Given the description of an element on the screen output the (x, y) to click on. 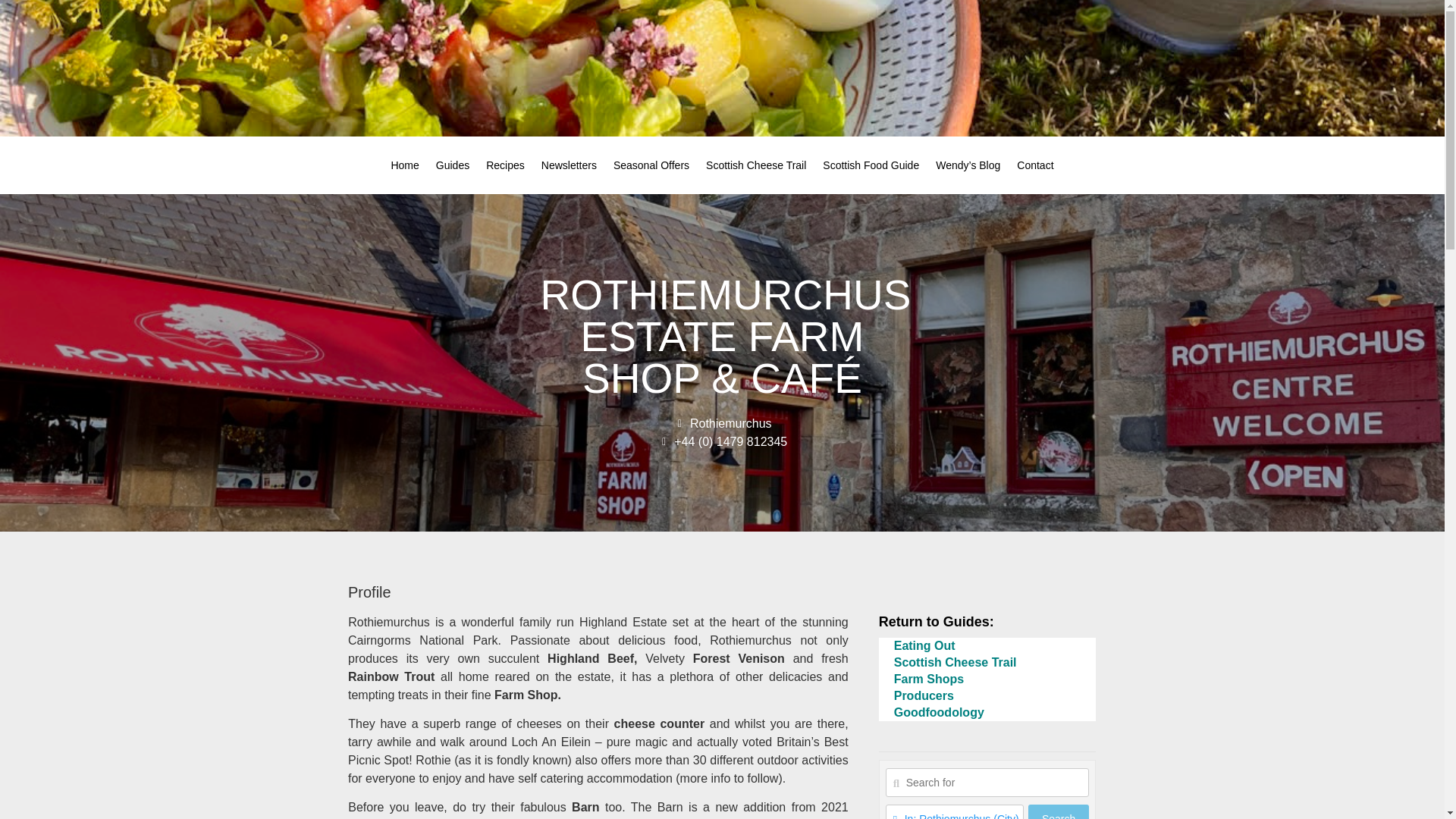
Contact (1035, 165)
Recipes (504, 165)
Scottish Cheese Trail (755, 165)
Scottish Food Guide (870, 165)
Home (403, 165)
Guides (452, 165)
Seasonal Offers (651, 165)
Newsletters (568, 165)
